Given the description of an element on the screen output the (x, y) to click on. 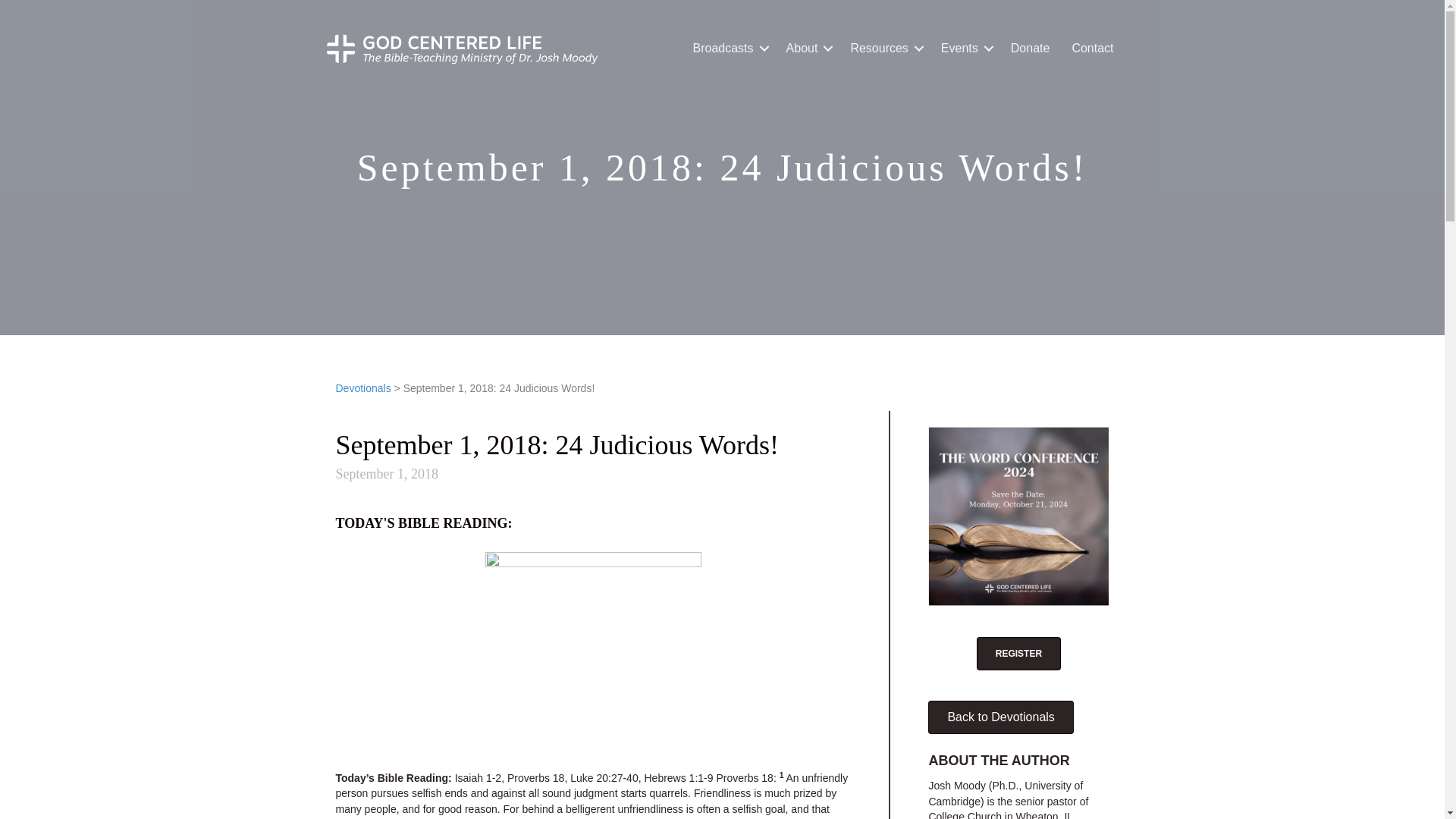
Proverbs 18 (744, 777)
Events (964, 48)
Contact (1092, 48)
Proverbs 18 (535, 777)
Isaiah 1-2 (477, 777)
REGISTER (1018, 653)
Luke 20:27-40 (604, 777)
Hebrews 1:1-9 (678, 777)
Devotionals (362, 387)
Back to Devotionals (1000, 717)
About (808, 48)
GCL-Logo-03 (461, 48)
Donate (1030, 48)
Resources (884, 48)
Go to the Devotionals category archives. (362, 387)
